Given the description of an element on the screen output the (x, y) to click on. 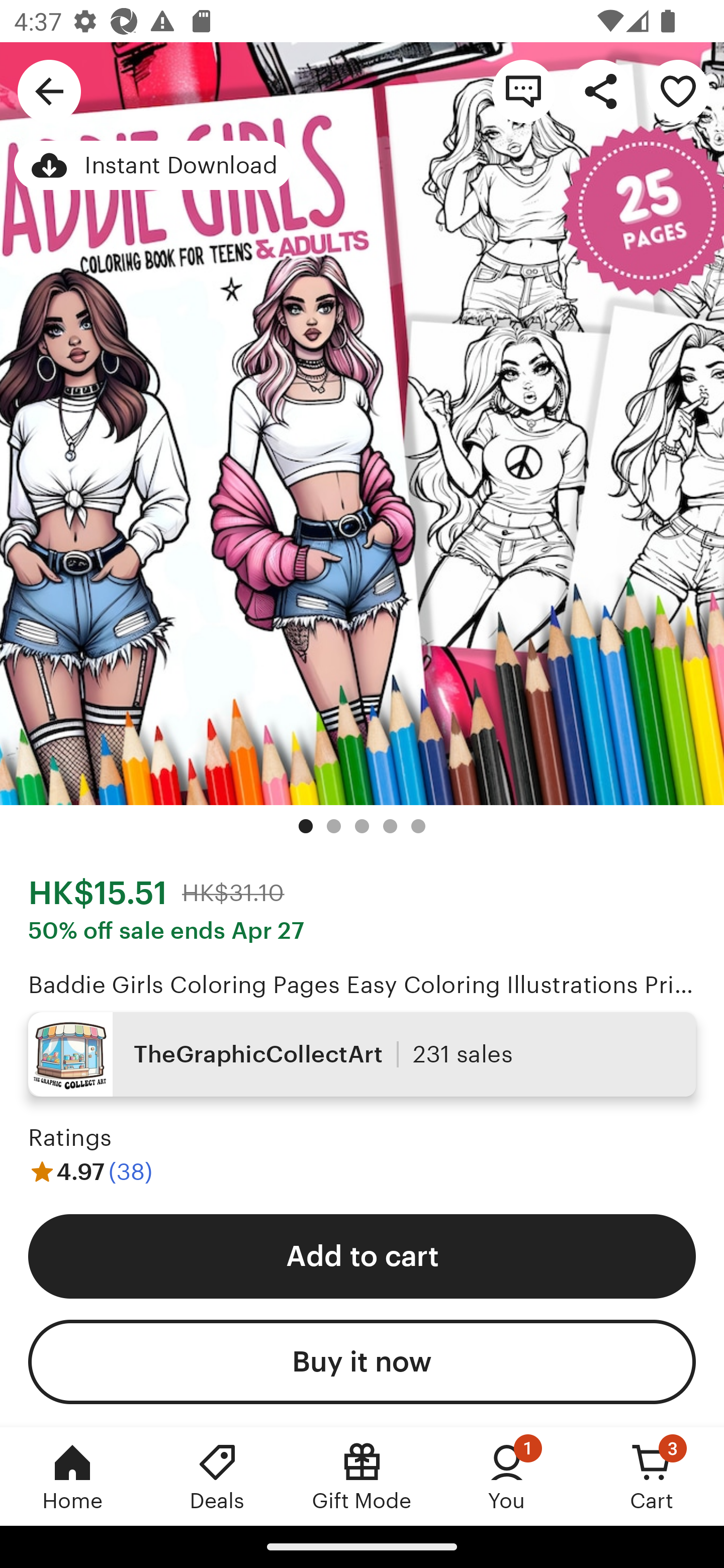
Navigate up (49, 90)
Contact shop (523, 90)
Share (600, 90)
TheGraphicCollectArt 231 sales (361, 1054)
Ratings (70, 1137)
4.97 (38) (90, 1171)
Add to cart (361, 1255)
Buy it now (361, 1362)
Deals (216, 1475)
Gift Mode (361, 1475)
You, 1 new notification You (506, 1475)
Cart, 3 new notifications Cart (651, 1475)
